Given the description of an element on the screen output the (x, y) to click on. 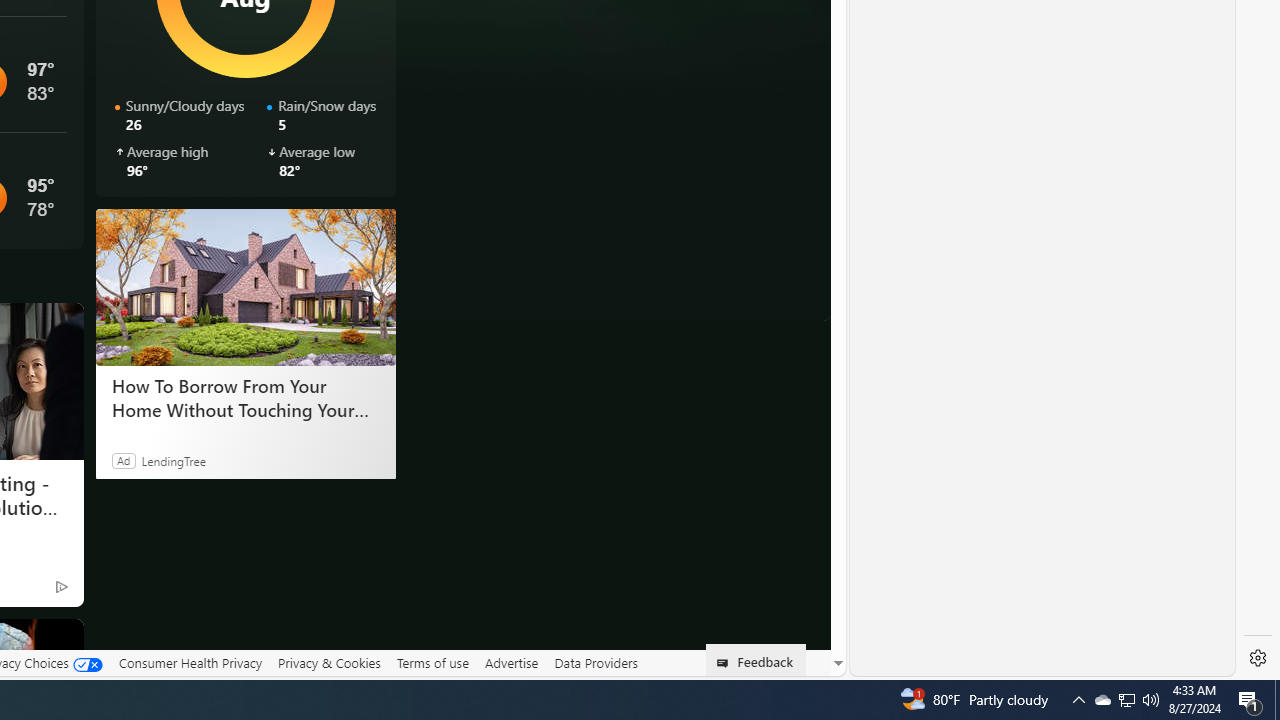
Data Providers (595, 662)
Data Providers (595, 663)
Class: feedback_link_icon-DS-EntryPoint1-1 (726, 663)
